Given the description of an element on the screen output the (x, y) to click on. 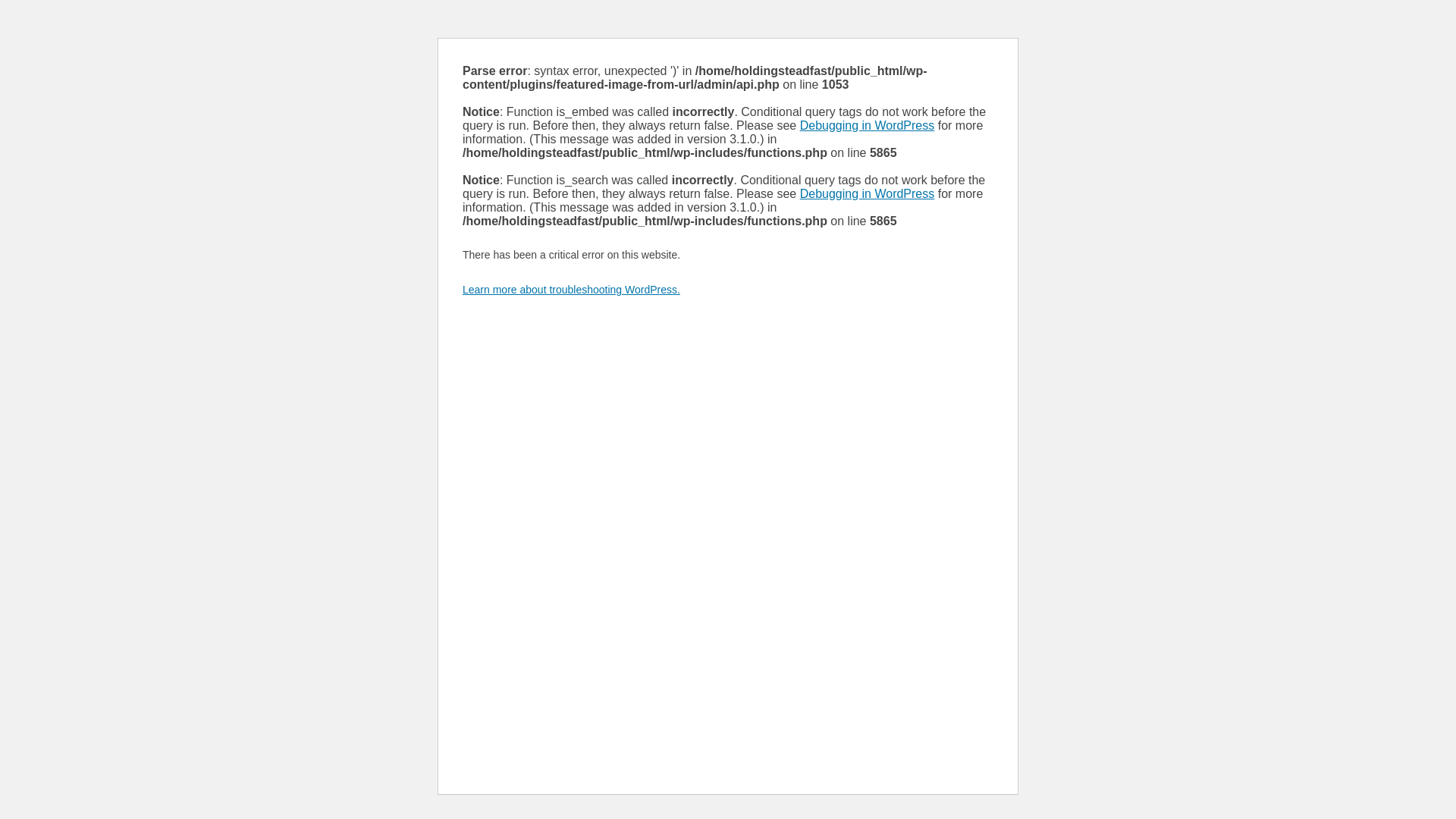
Debugging in WordPress (866, 124)
Learn more about troubleshooting WordPress. (571, 289)
Debugging in WordPress (866, 193)
